Given the description of an element on the screen output the (x, y) to click on. 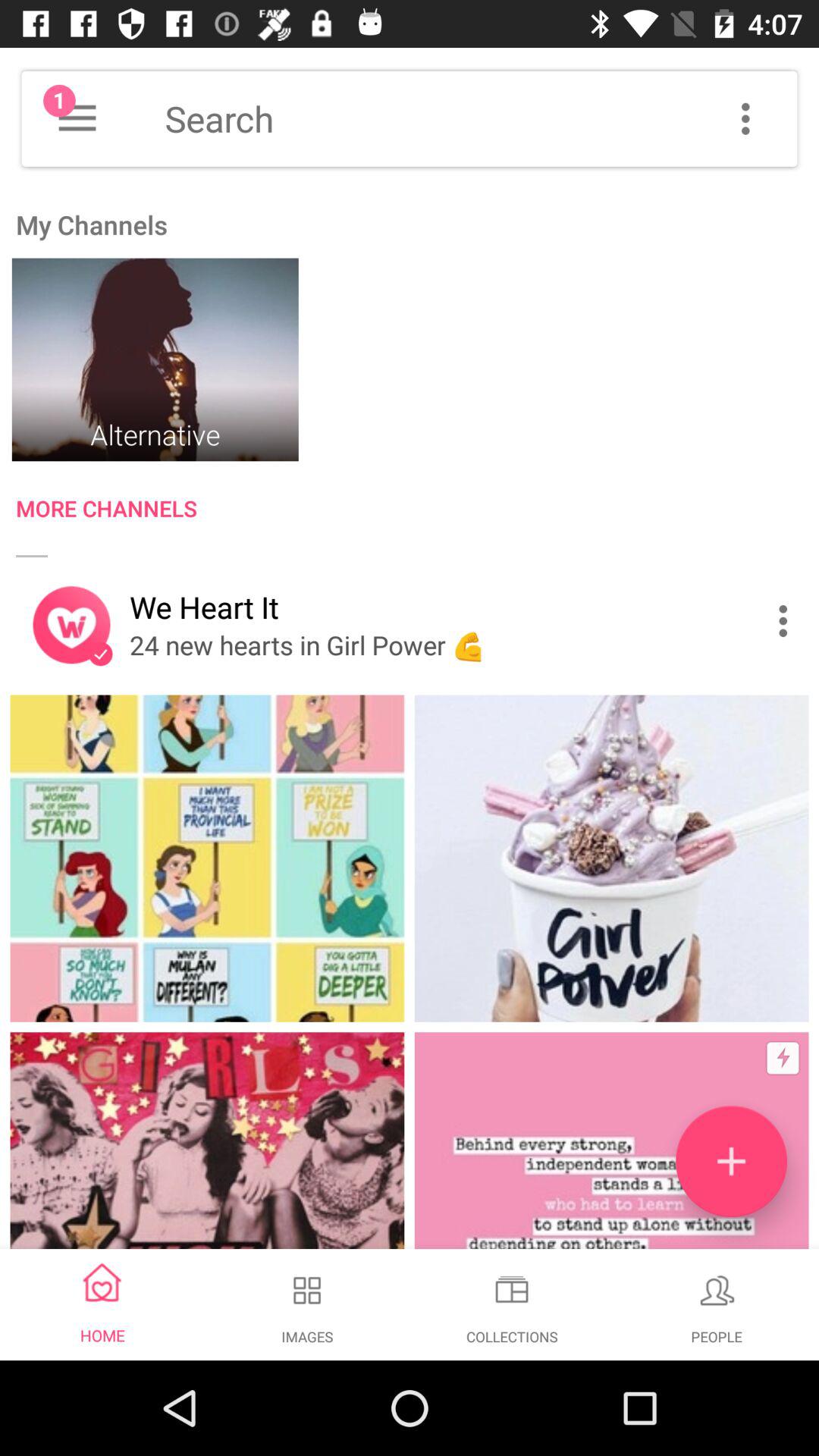
click on images icon (307, 1289)
click on the picture above the plus button (611, 858)
click on three dots right to we heart it (787, 620)
select the red color text more channels below image (417, 511)
